Given the description of an element on the screen output the (x, y) to click on. 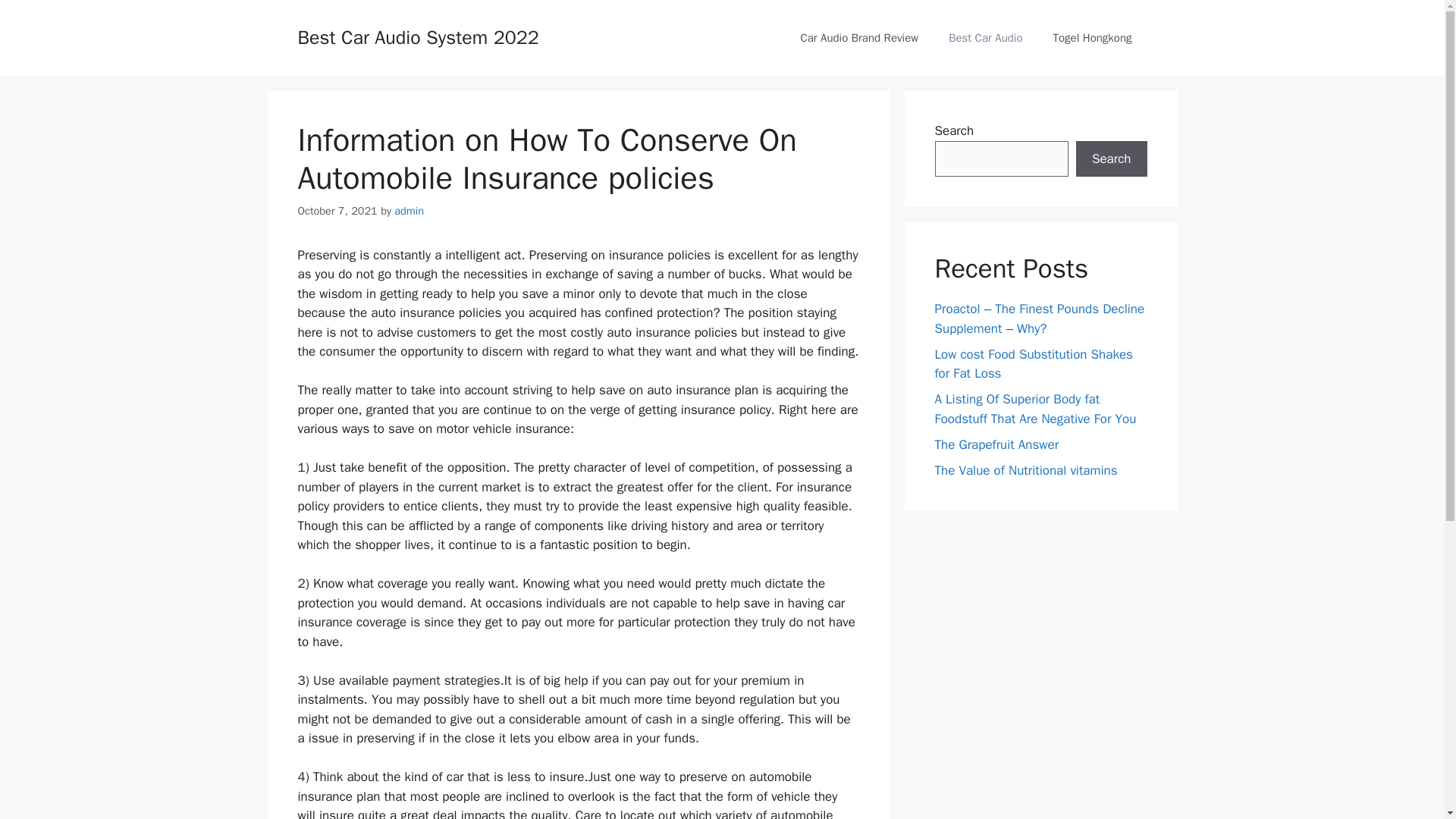
Best Car Audio System 2022 (417, 37)
Search (1111, 158)
Togel Hongkong (1091, 37)
Best Car Audio (984, 37)
Car Audio Brand Review (858, 37)
The Grapefruit Answer (996, 444)
The Value of Nutritional vitamins (1025, 470)
Low cost Food Substitution Shakes for Fat Loss (1033, 363)
View all posts by admin (408, 210)
admin (408, 210)
